Given the description of an element on the screen output the (x, y) to click on. 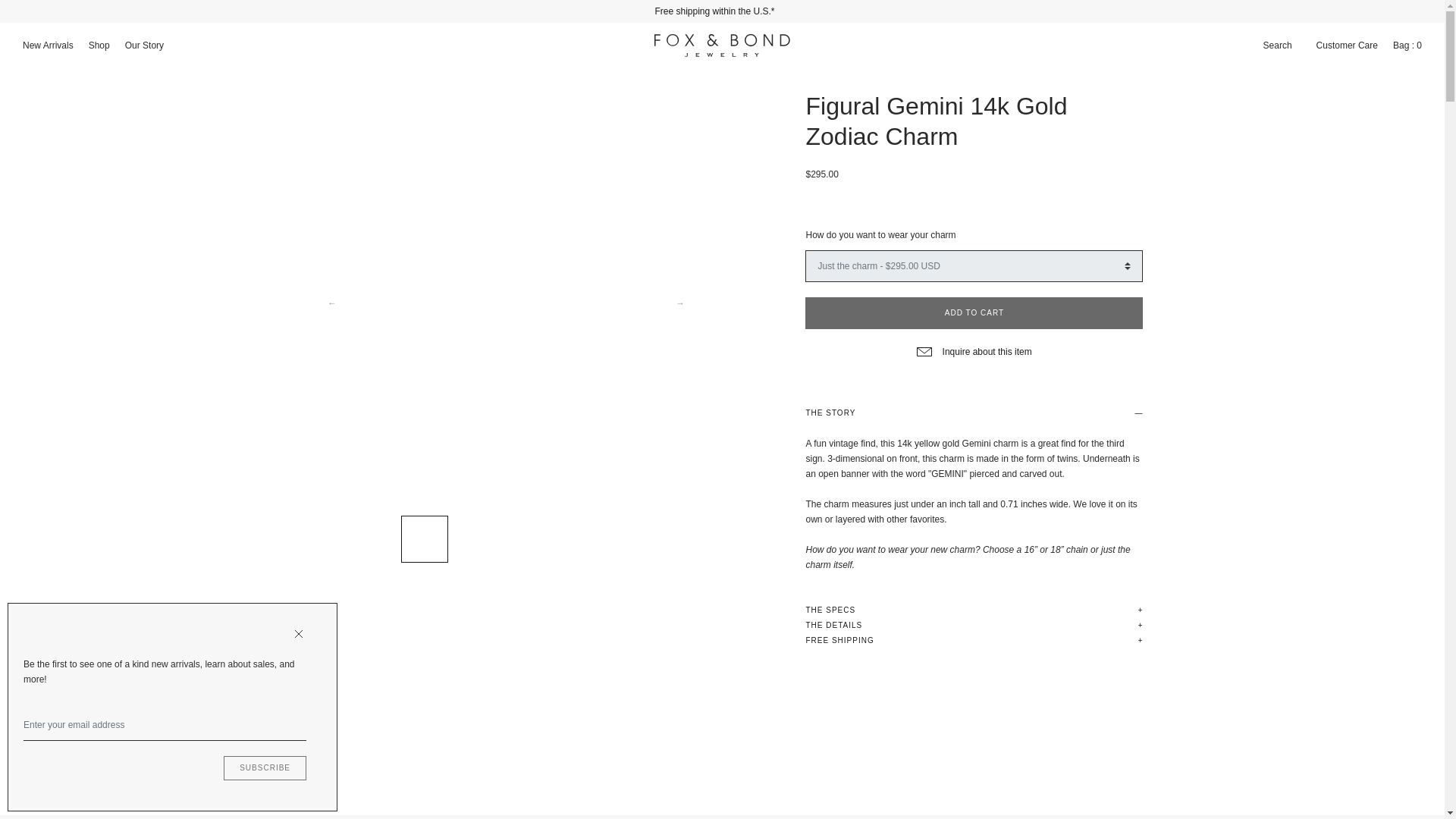
THE SPECS (973, 610)
THE DETAILS (973, 625)
Customer Care (1347, 44)
Our Story (144, 44)
Bag : 0 (1407, 44)
FREE SHIPPING (973, 640)
ADD TO CART (973, 313)
New Arrivals (47, 44)
THE STORY (973, 412)
Inquire about this item (973, 351)
